Given the description of an element on the screen output the (x, y) to click on. 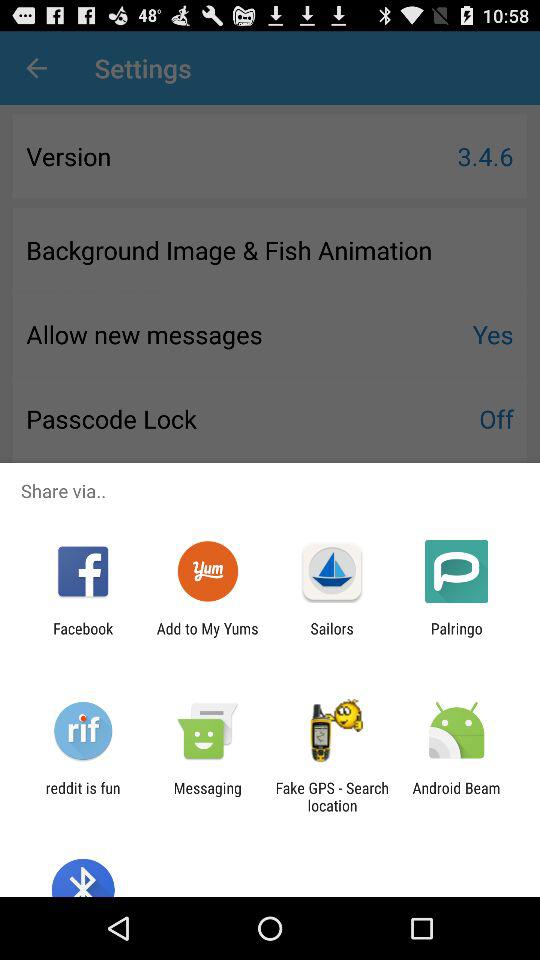
turn on the item next to the add to my (331, 637)
